Given the description of an element on the screen output the (x, y) to click on. 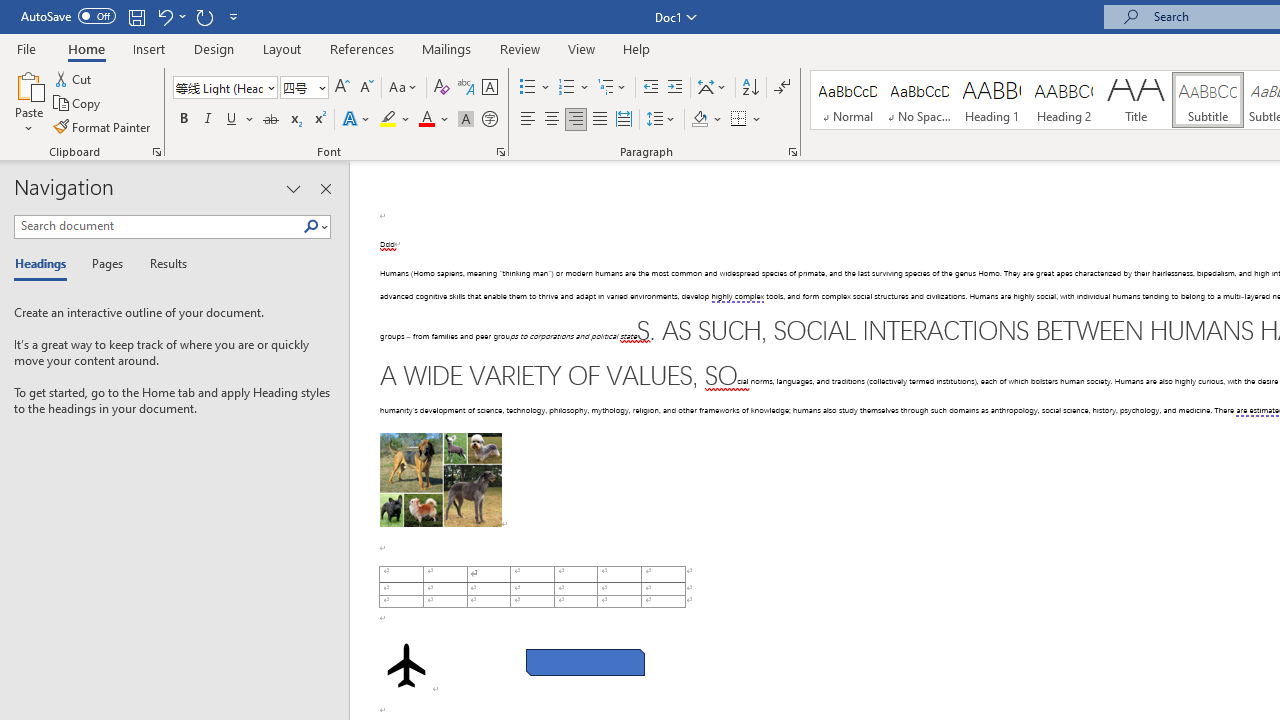
Font Size (304, 87)
Paste (28, 84)
Headings (45, 264)
File Tab (26, 48)
Multilevel List (613, 87)
Subtitle (1208, 100)
Shrink Font (365, 87)
Strikethrough (270, 119)
Justify (599, 119)
Clear Formatting (442, 87)
Results (161, 264)
